Given the description of an element on the screen output the (x, y) to click on. 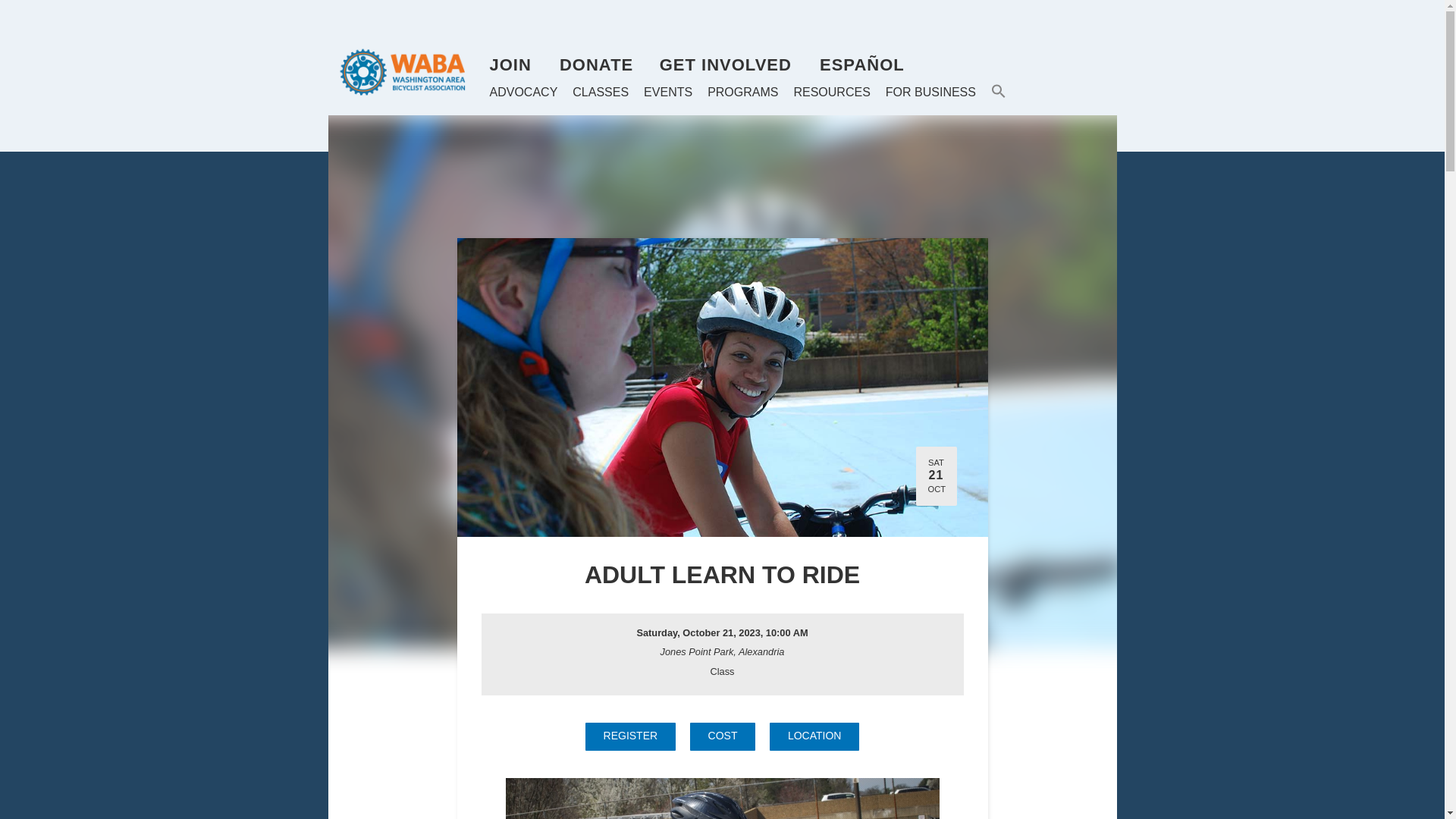
PROGRAMS (742, 92)
RESOURCES (831, 92)
JOIN (510, 64)
WABA Homepage (408, 71)
DONATE (596, 64)
ADVOCACY (523, 92)
EVENTS (668, 92)
CLASSES (600, 92)
GET INVOLVED (725, 64)
